Given the description of an element on the screen output the (x, y) to click on. 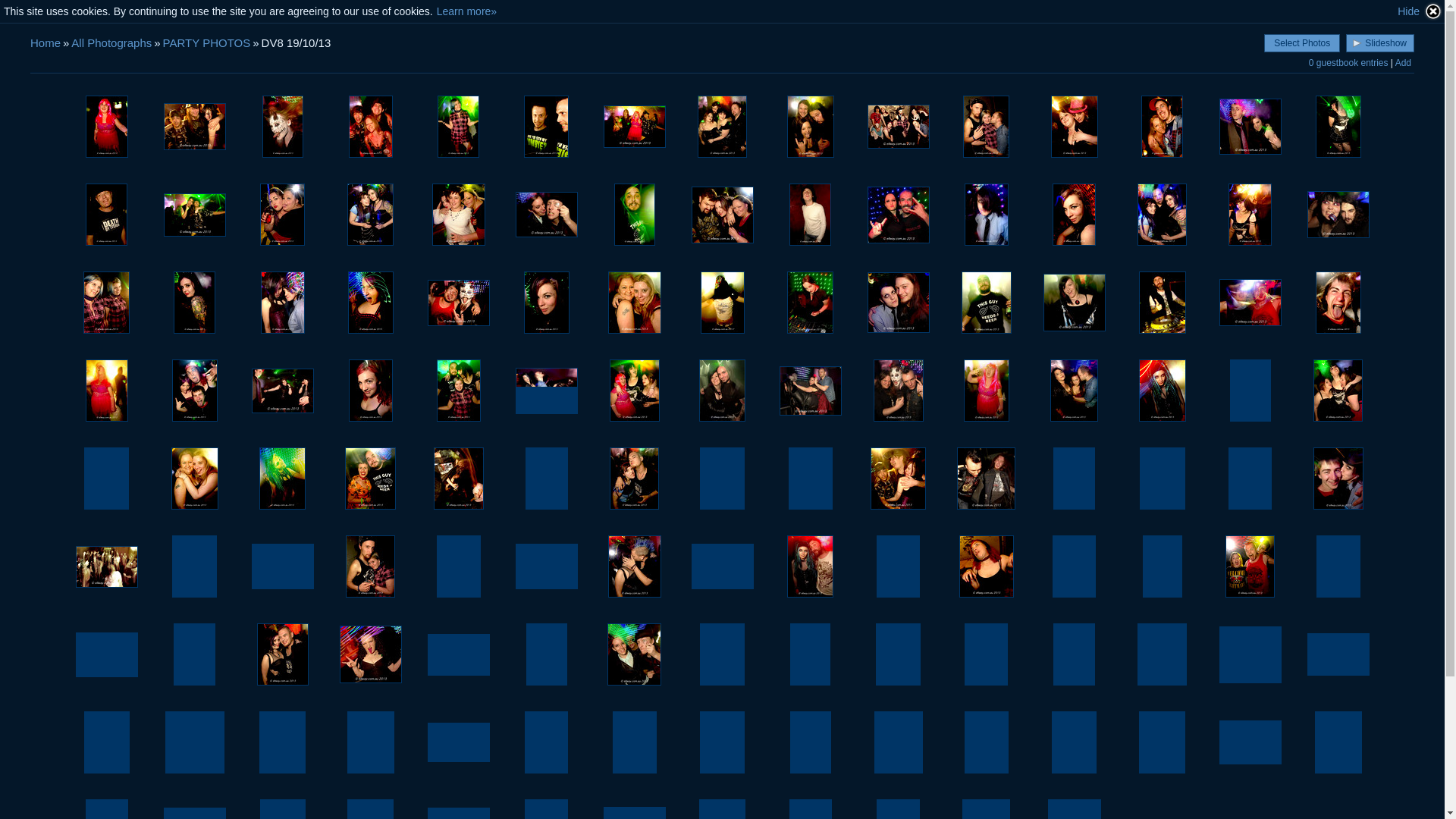
Hide Element type: text (1419, 11)
Home Element type: text (45, 42)
PARTY PHOTOS Element type: text (207, 42)
All Photographs Element type: text (111, 42)
Add Element type: text (1403, 62)
0 guestbook entries Element type: text (1348, 62)
